Given the description of an element on the screen output the (x, y) to click on. 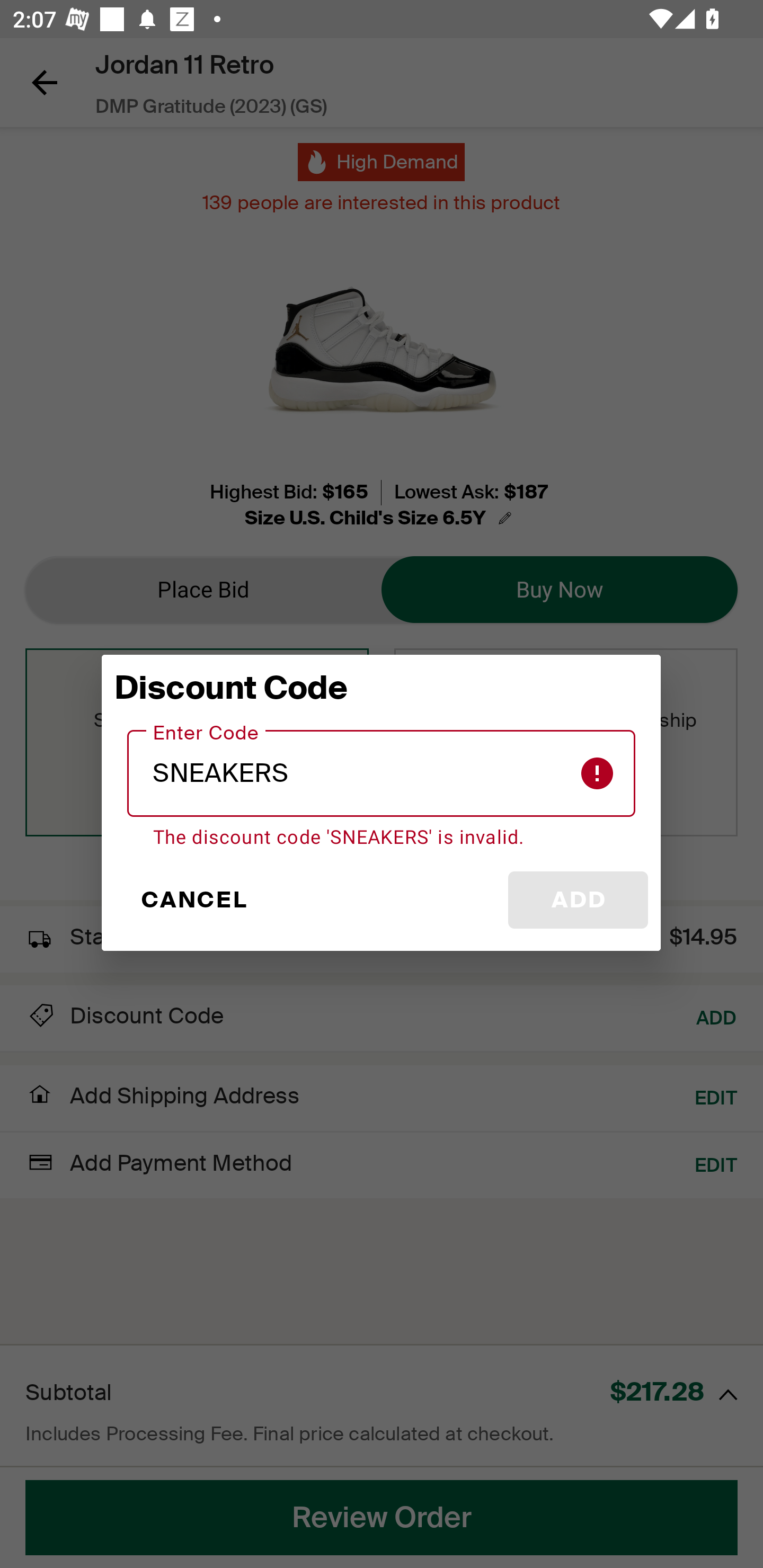
SNEAKERS (381, 773)
CANCEL (193, 899)
ADD (577, 899)
